Given the description of an element on the screen output the (x, y) to click on. 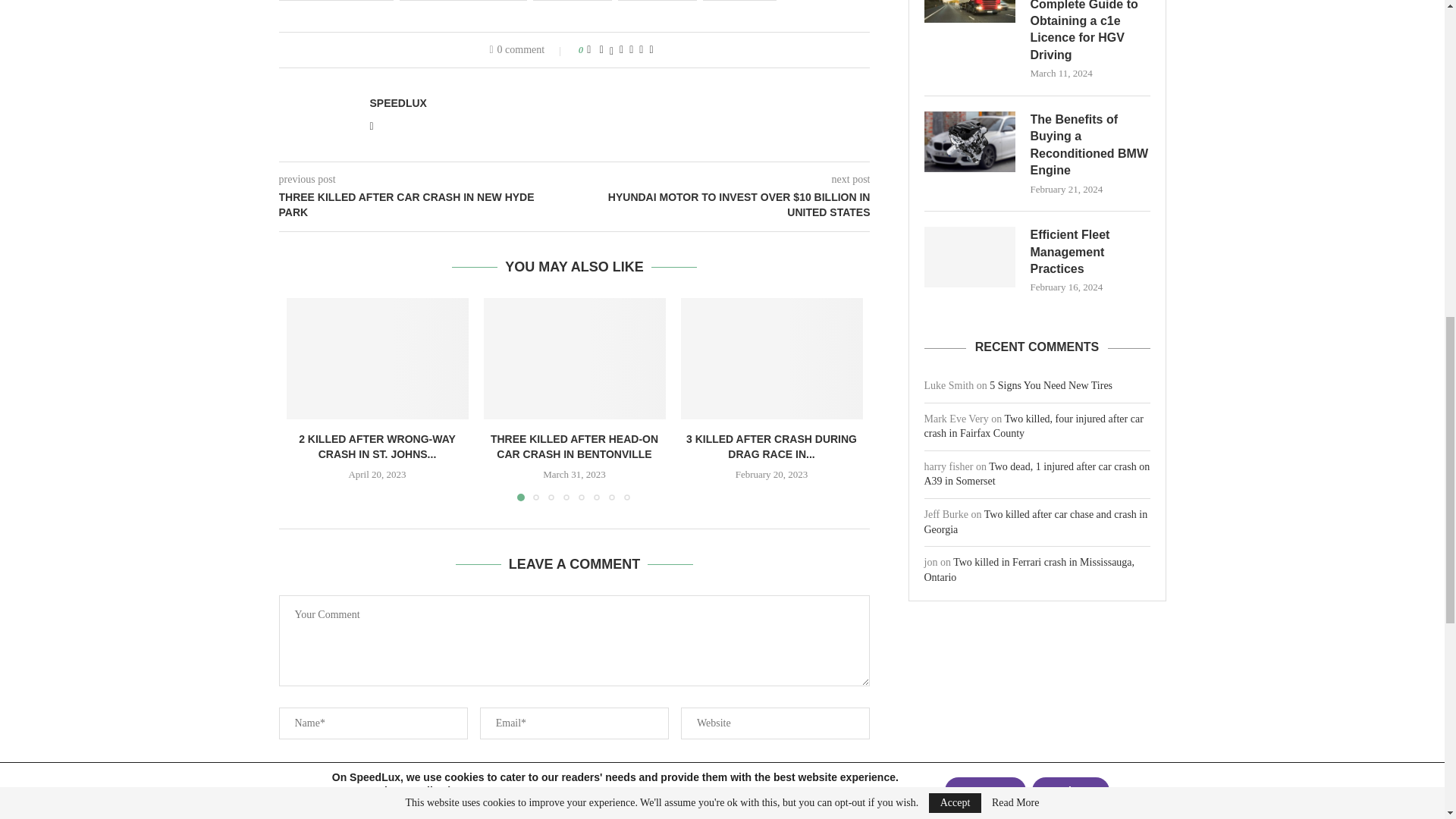
Three killed after head-on car crash in Bentonville (574, 358)
2 killed after wrong-way crash in St. Johns County (377, 358)
SPEEDLUX (397, 102)
2 KILLED AFTER WRONG-WAY CRASH IN ST. JOHNS... (376, 446)
Author SpeedLux (397, 102)
Submit (574, 802)
3 killed after crash during drag race in Chicago (772, 358)
yes (283, 767)
THREE KILLED AFTER CAR CRASH IN NEW HYDE PARK (427, 205)
